Given the description of an element on the screen output the (x, y) to click on. 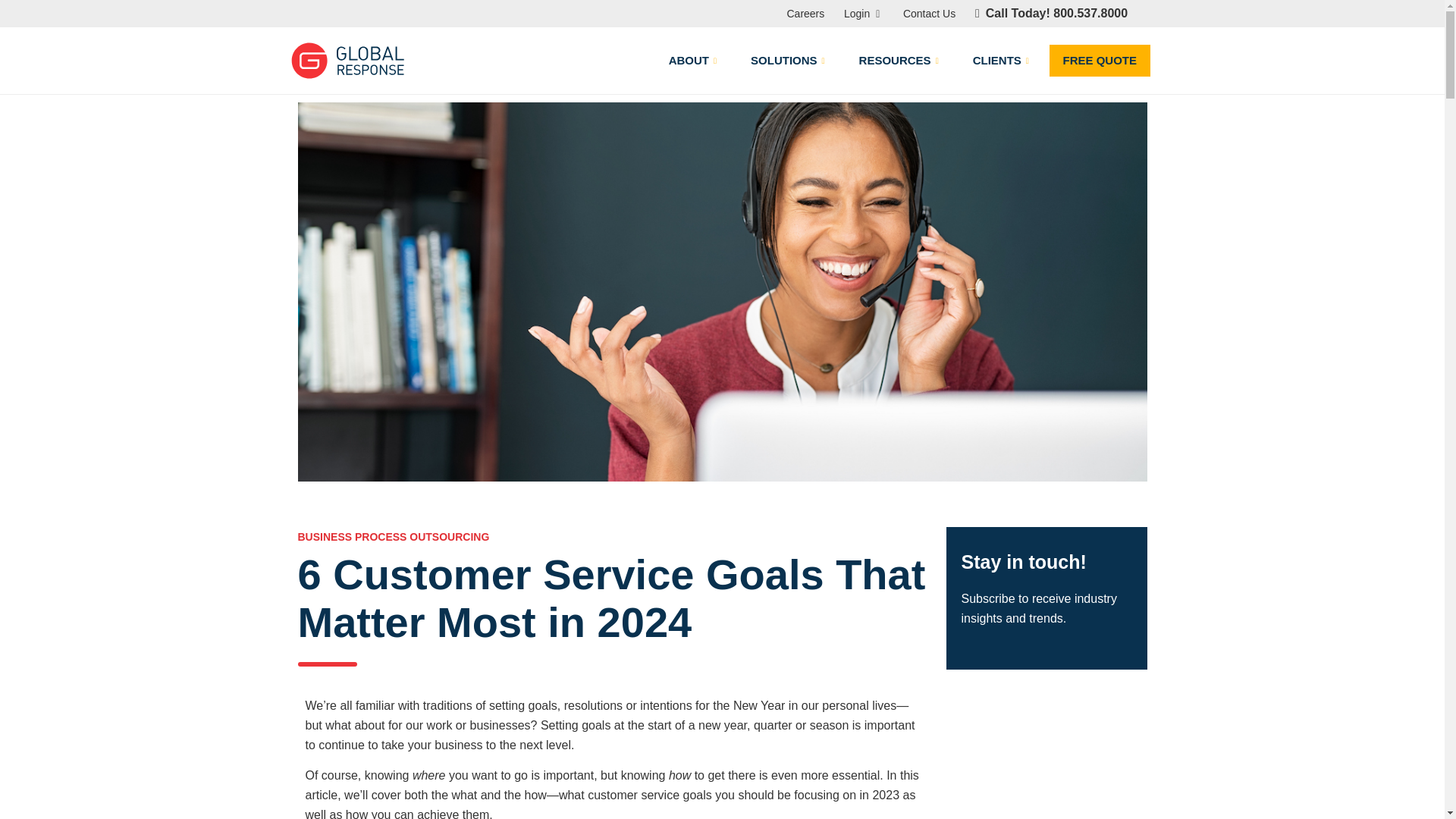
SOLUTIONS (789, 60)
ABOUT (694, 60)
Login (861, 13)
Call Today! 800.537.8000 (1050, 12)
Contact Us (928, 13)
Careers (805, 13)
